Given the description of an element on the screen output the (x, y) to click on. 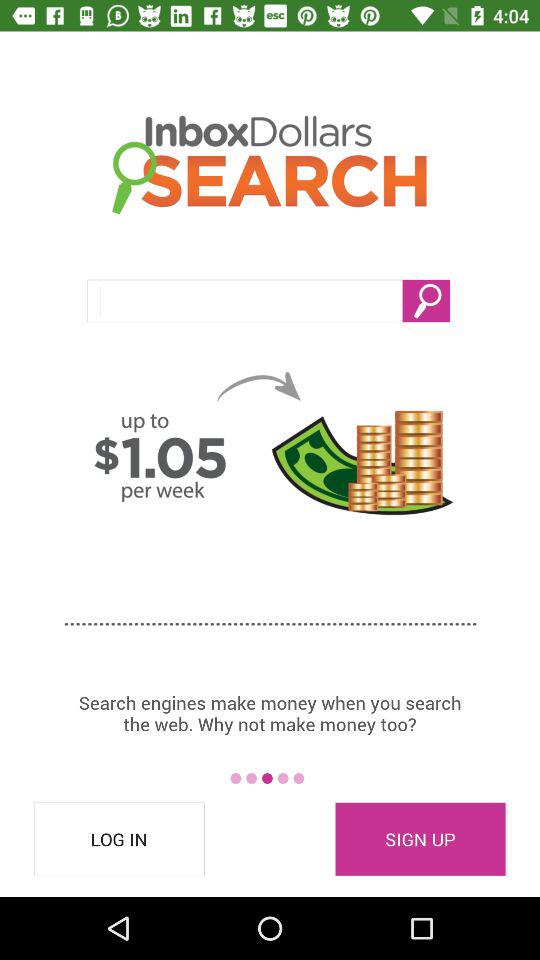
turn off item to the left of sign up item (119, 839)
